Given the description of an element on the screen output the (x, y) to click on. 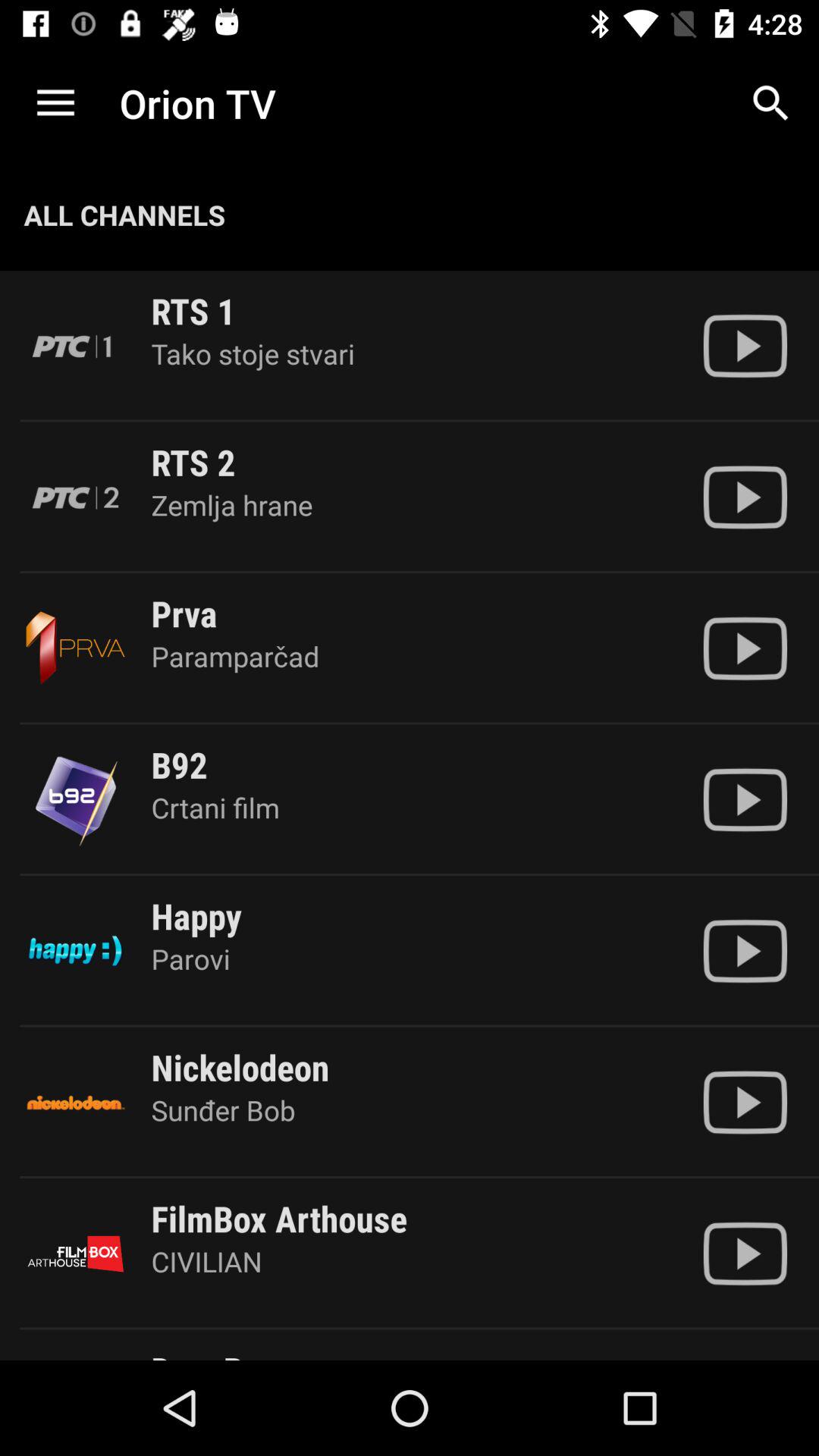
play the song (745, 648)
